Given the description of an element on the screen output the (x, y) to click on. 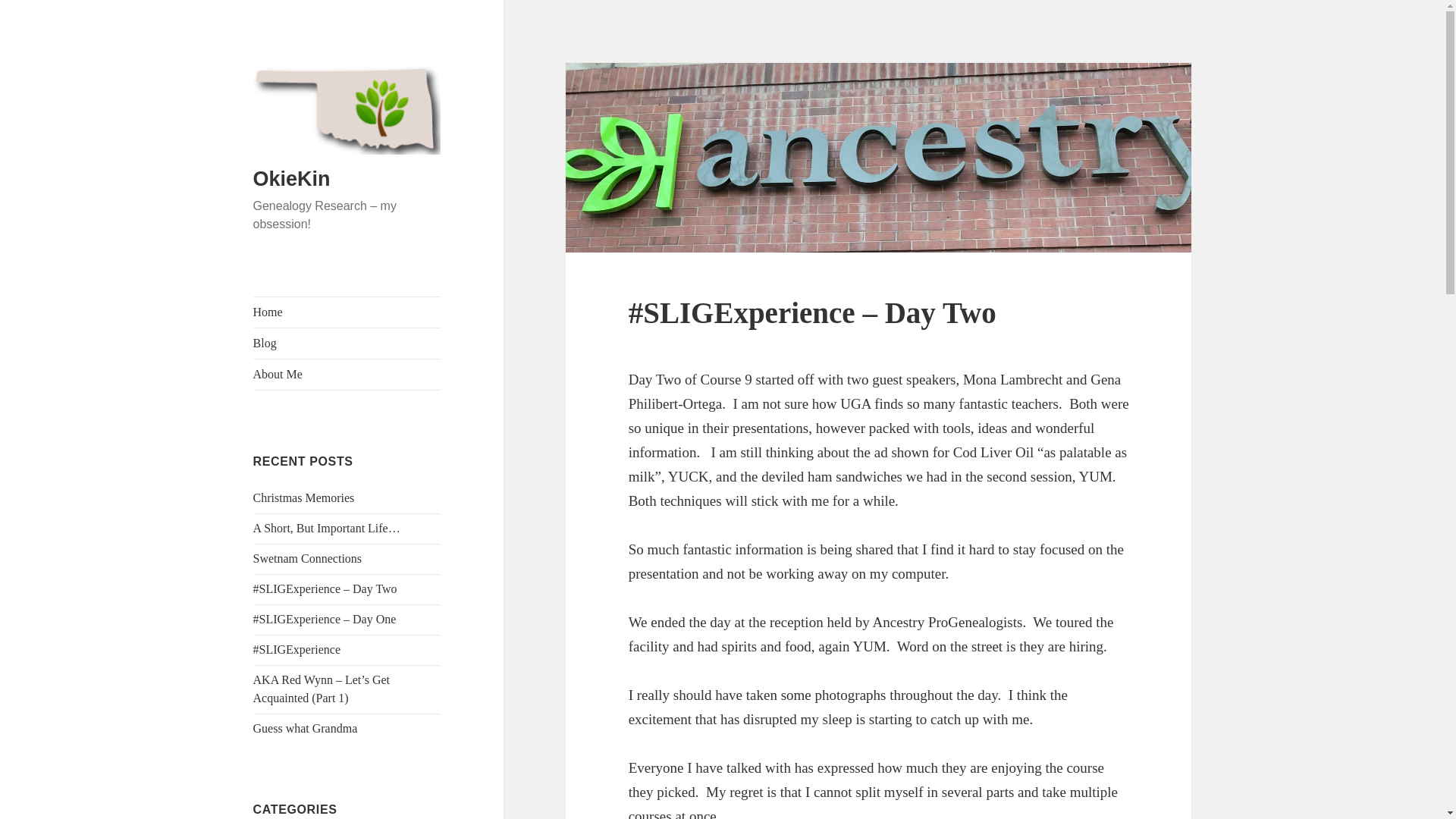
OkieKin (291, 178)
Home (347, 312)
Guess what Grandma (305, 727)
Christmas Memories (304, 497)
About Me (347, 374)
Blog (347, 343)
Swetnam Connections (307, 558)
